Given the description of an element on the screen output the (x, y) to click on. 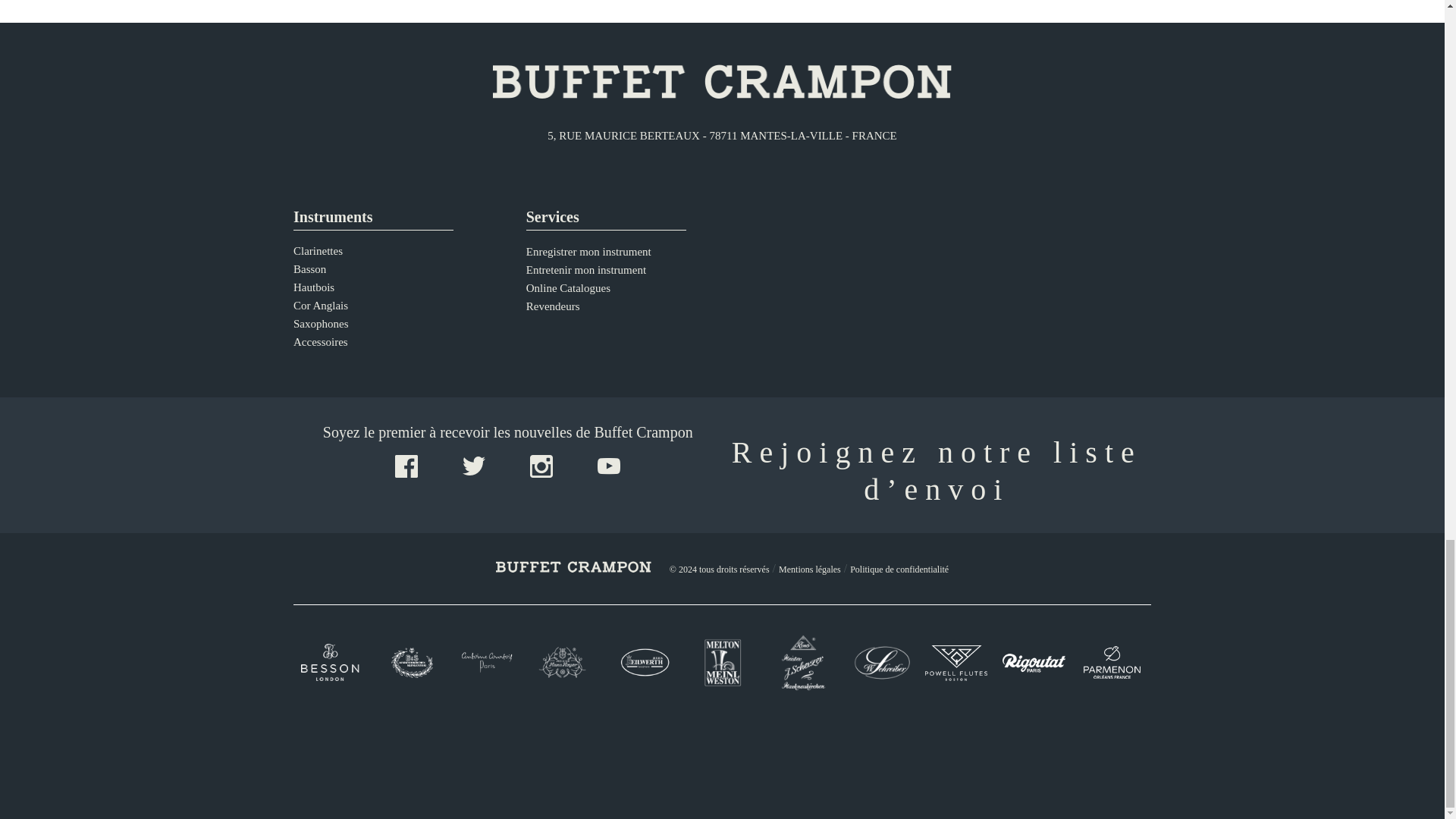
Rigoutat (1033, 662)
Hans Hoyer (566, 662)
Keilwerth (643, 662)
Besson (332, 662)
Parmenon (1112, 662)
Antoine Courtois (488, 662)
W. Schreiber (878, 662)
J. Scherzer (800, 662)
Powell Flutes Boston (956, 662)
Melton Meinl Weston (721, 662)
